Given the description of an element on the screen output the (x, y) to click on. 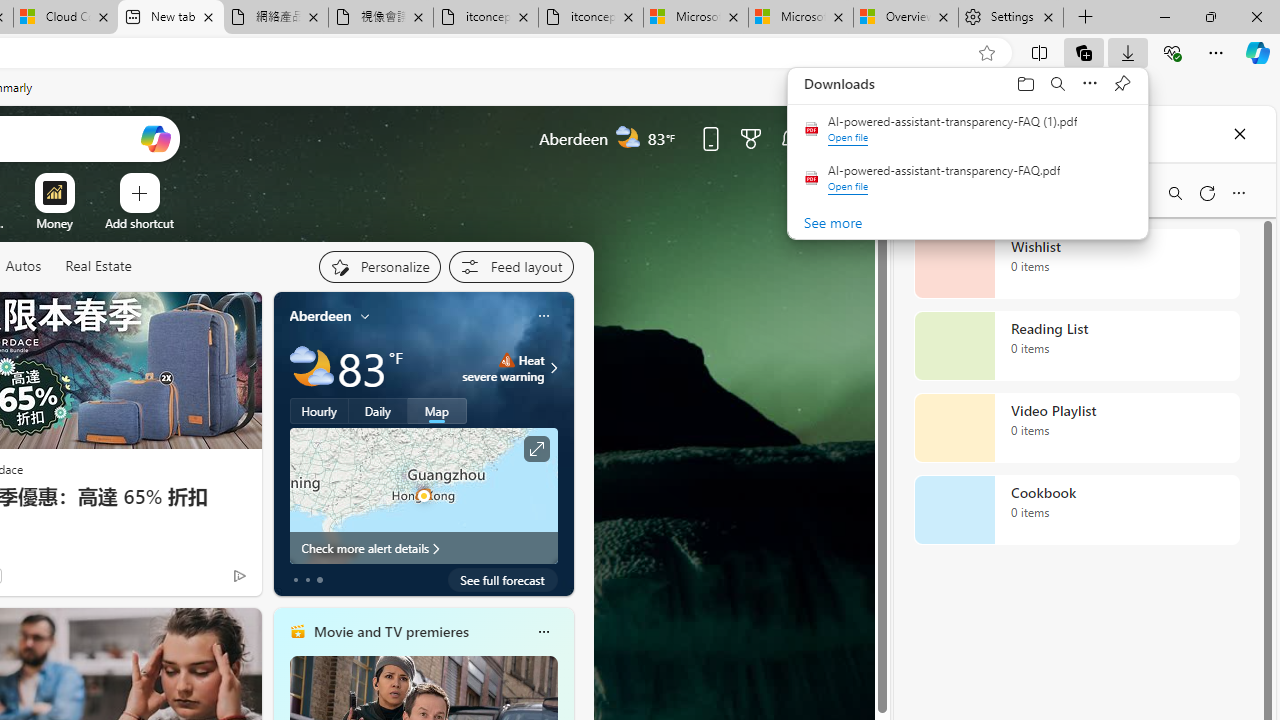
Cloud Computing Services | Microsoft Azure (65, 17)
Autos (22, 265)
My location (365, 315)
Downloads (1128, 52)
Class: weather-arrow-glyph (554, 367)
Cookbook collection, 0 items (1076, 510)
Heat - Severe (505, 359)
